Given the description of an element on the screen output the (x, y) to click on. 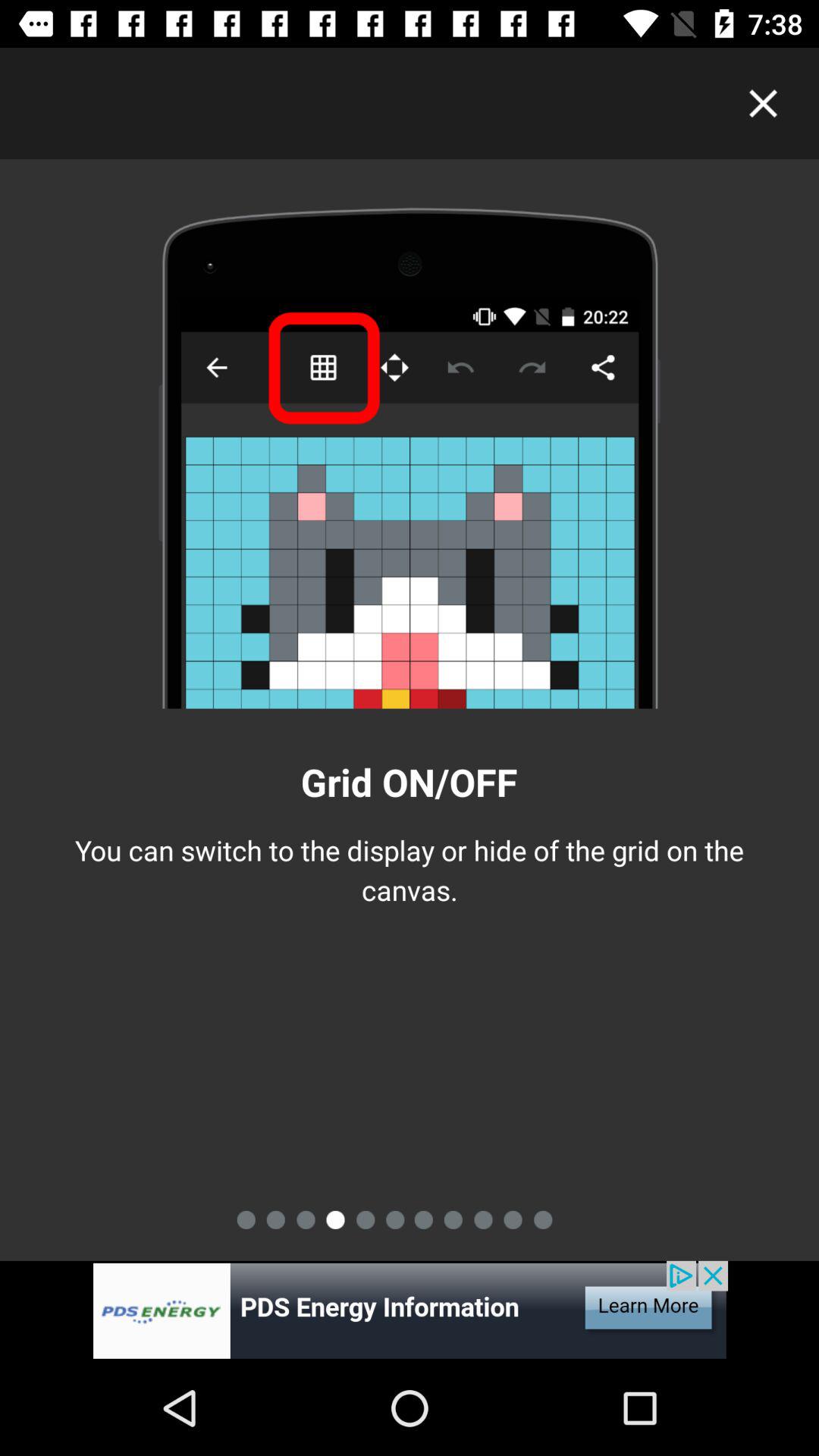
share the article (409, 1310)
